Given the description of an element on the screen output the (x, y) to click on. 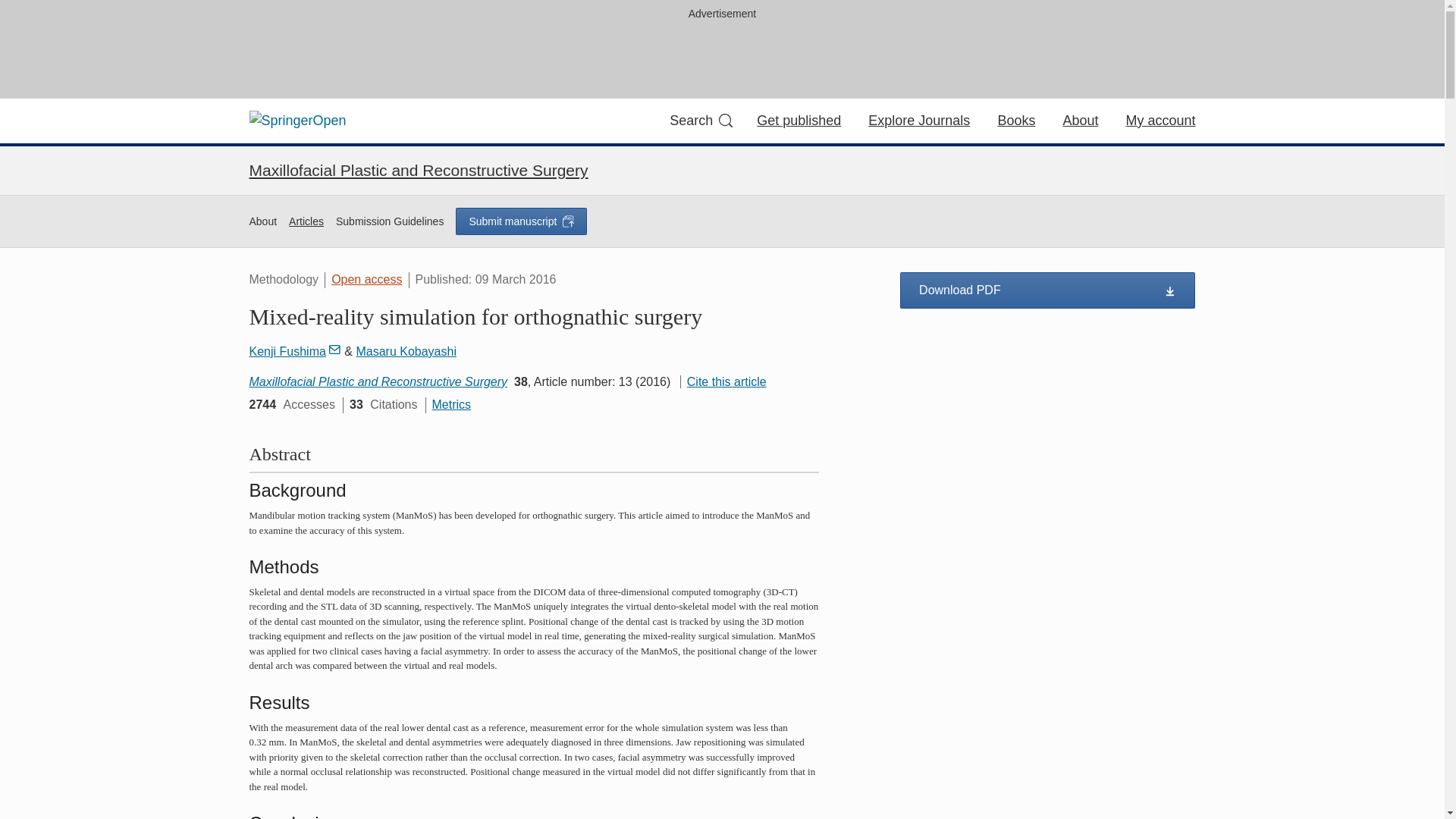
Books (1016, 120)
Kenji Fushima (294, 350)
Masaru Kobayashi (406, 350)
Get published (799, 120)
Cite this article (723, 381)
About (1079, 120)
Maxillofacial Plastic and Reconstructive Surgery (377, 381)
Submit manuscript (520, 221)
About (262, 221)
Explore Journals (918, 120)
